Given the description of an element on the screen output the (x, y) to click on. 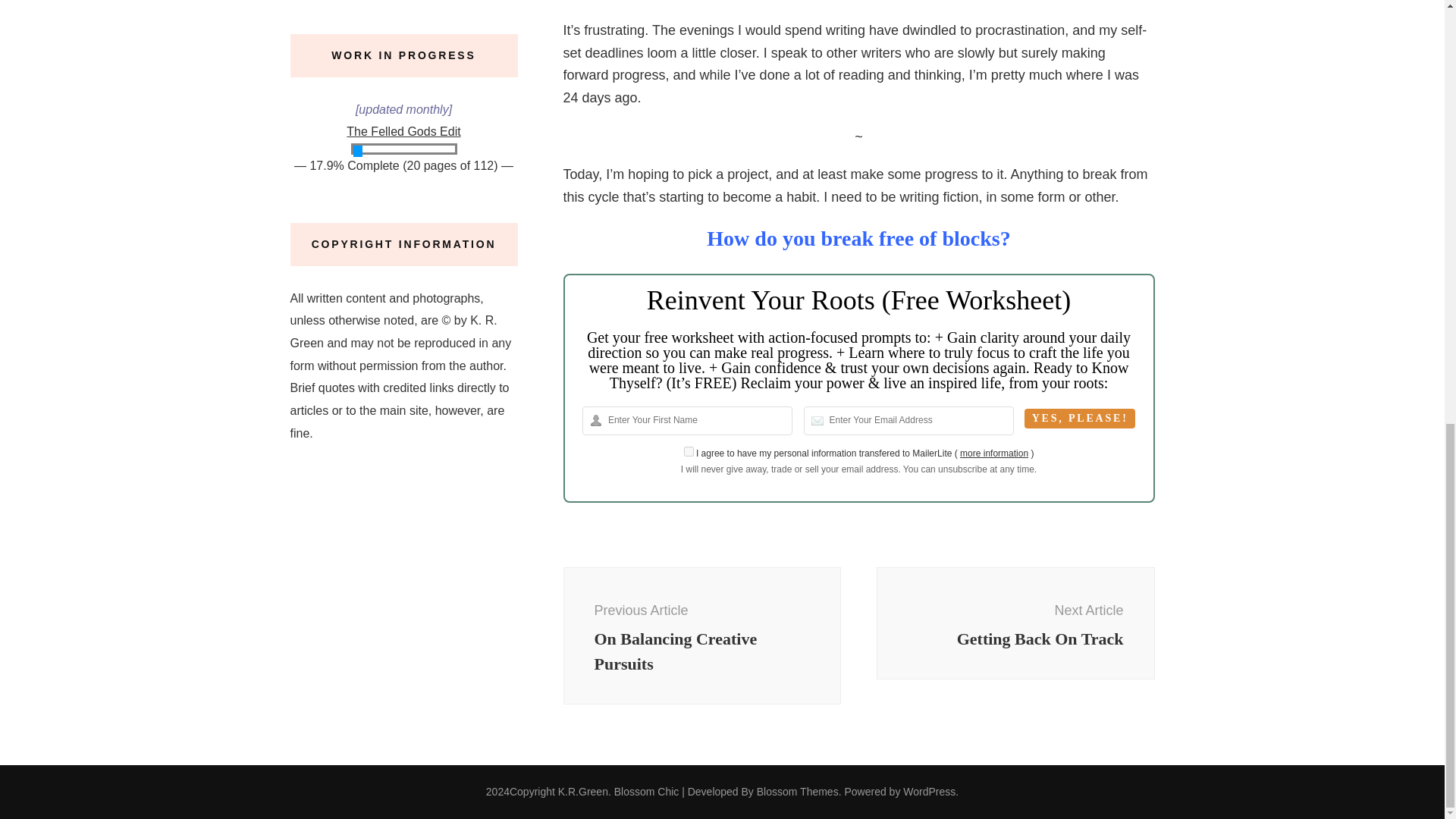
K.R.Green (582, 791)
YES, PLEASE! (1080, 418)
on (701, 635)
YES, PLEASE! (1015, 623)
more information (689, 451)
The Felled Gods Edit (1080, 418)
